Given the description of an element on the screen output the (x, y) to click on. 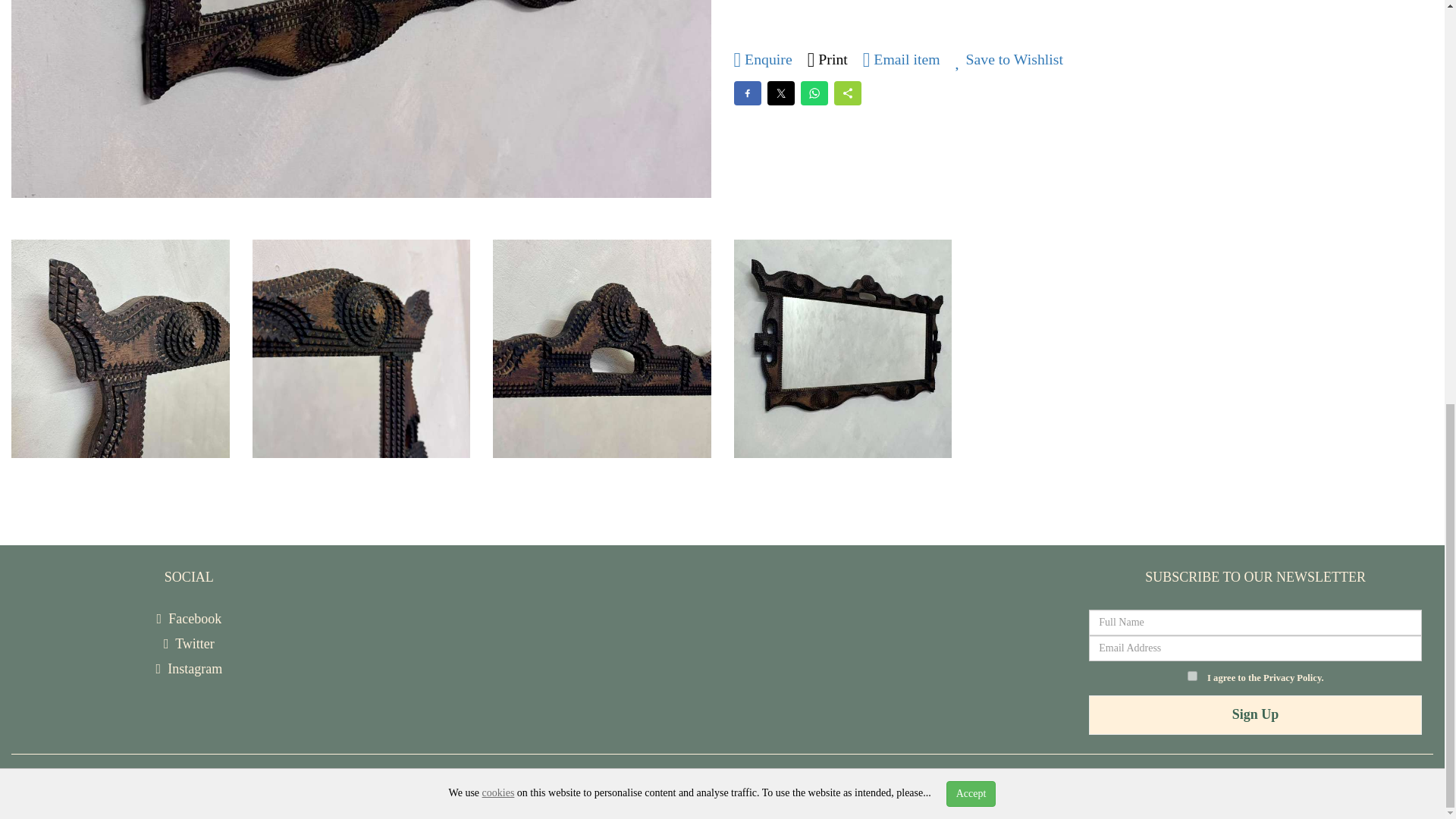
Print (827, 58)
Terms (680, 782)
Antiques website design (158, 782)
Email item (901, 58)
Privacy (632, 782)
Save to Wishlist (1008, 58)
Antiques (365, 782)
Privacy Policy (1292, 677)
on (1192, 675)
Enquire (762, 58)
Sign Up (1255, 714)
  Twitter (188, 643)
  Facebook (189, 618)
  Instagram (188, 668)
ph9 web design (288, 782)
